Given the description of an element on the screen output the (x, y) to click on. 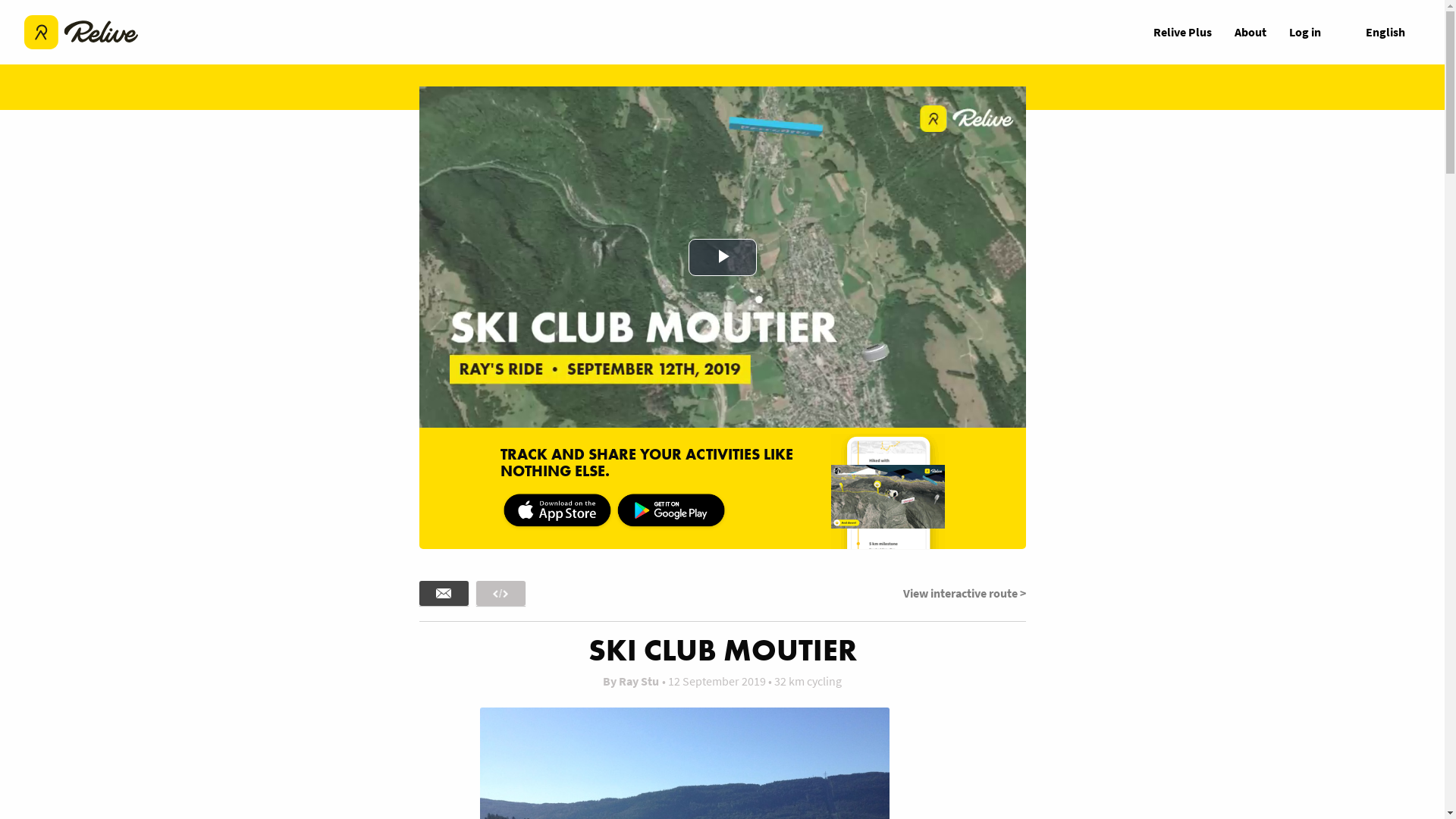
View interactive route > Element type: text (963, 592)
Relive Plus Element type: text (1182, 31)
Play Video Element type: text (722, 257)
Log in Element type: text (1305, 31)
English Element type: text (1376, 32)
About Element type: text (1250, 31)
